Given the description of an element on the screen output the (x, y) to click on. 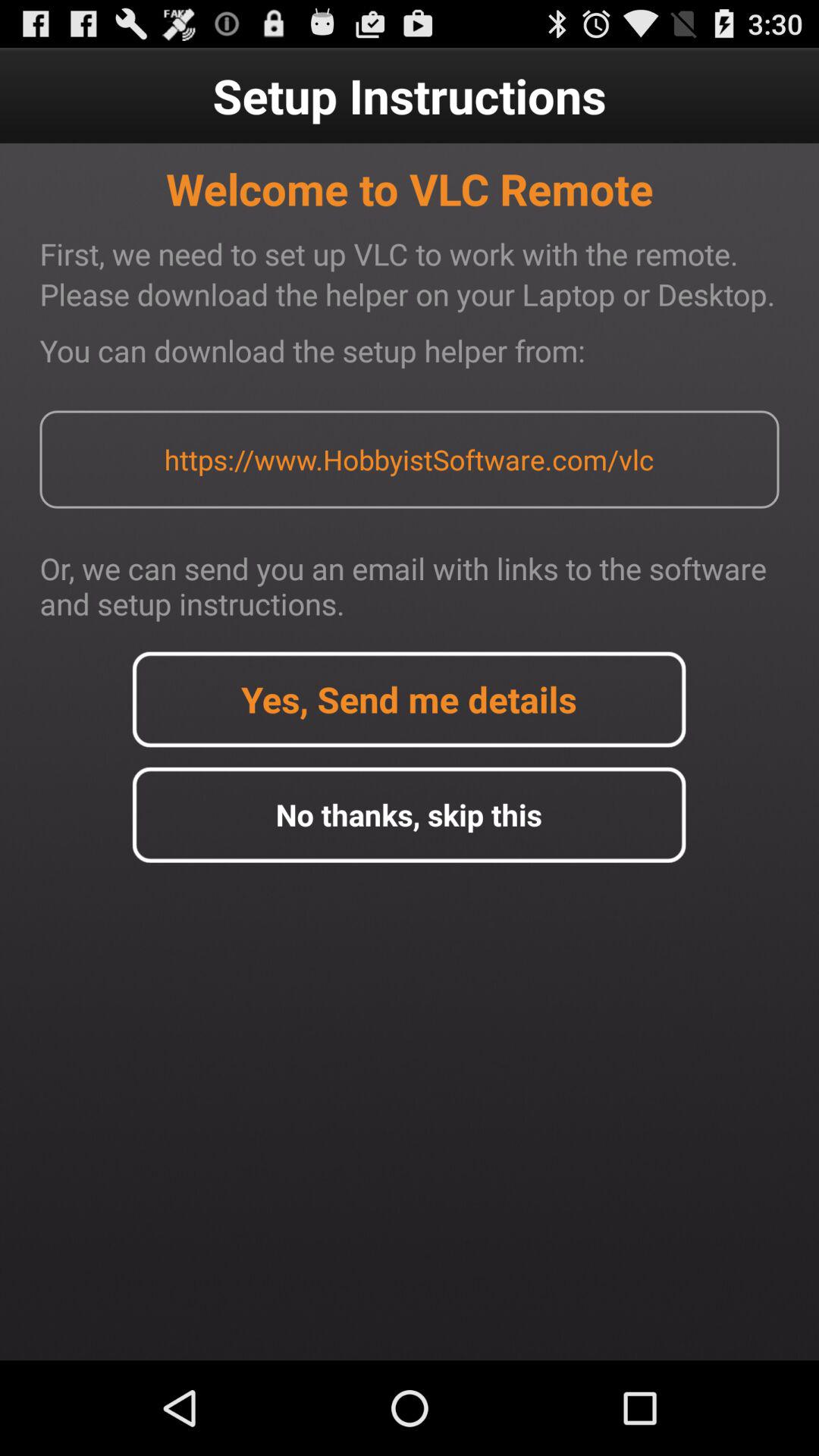
skip step (408, 814)
